Given the description of an element on the screen output the (x, y) to click on. 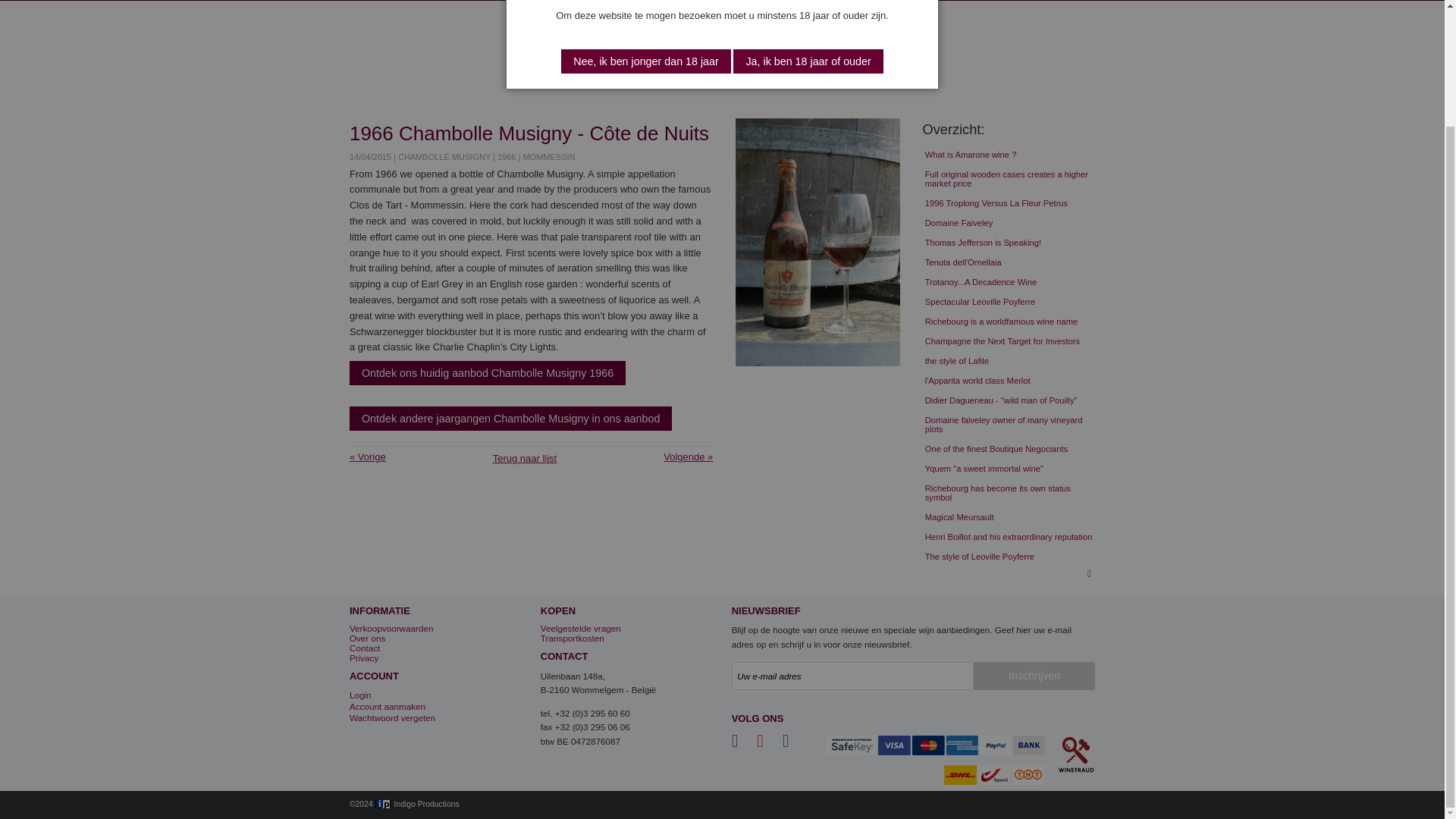
Zoeken (447, 0)
Blogs (935, 0)
Wijnen (496, 0)
Belgium Wine Watchers on Facebook (743, 743)
Belgium Wine Watchers on Instagram (794, 743)
Catalogus (392, 0)
Geschenken (793, 0)
Inschrijven (1034, 675)
